Given the description of an element on the screen output the (x, y) to click on. 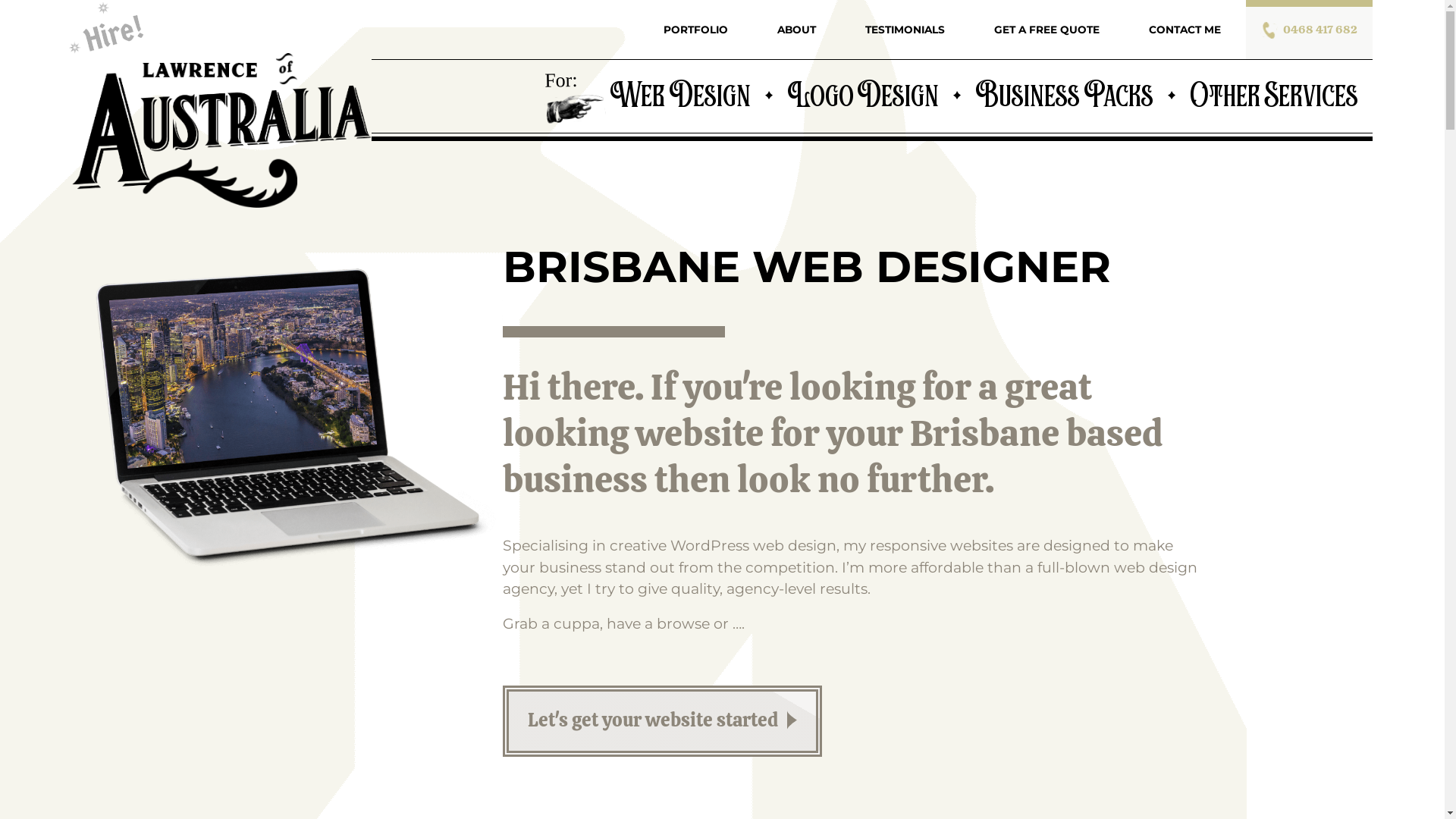
Logo Design Element type: text (862, 93)
Other Services Element type: text (1273, 93)
PORTFOLIO Element type: text (695, 29)
CONTACT ME Element type: text (1184, 29)
Business Packs Element type: text (1063, 93)
ABOUT Element type: text (796, 29)
0468 417 682 Element type: text (1322, 29)
TESTIMONIALS Element type: text (905, 29)
Let's get your website started Element type: text (662, 720)
Web Design Element type: text (680, 93)
GET A FREE QUOTE Element type: text (1046, 29)
brisbane-web-designer Element type: hover (287, 414)
